Given the description of an element on the screen output the (x, y) to click on. 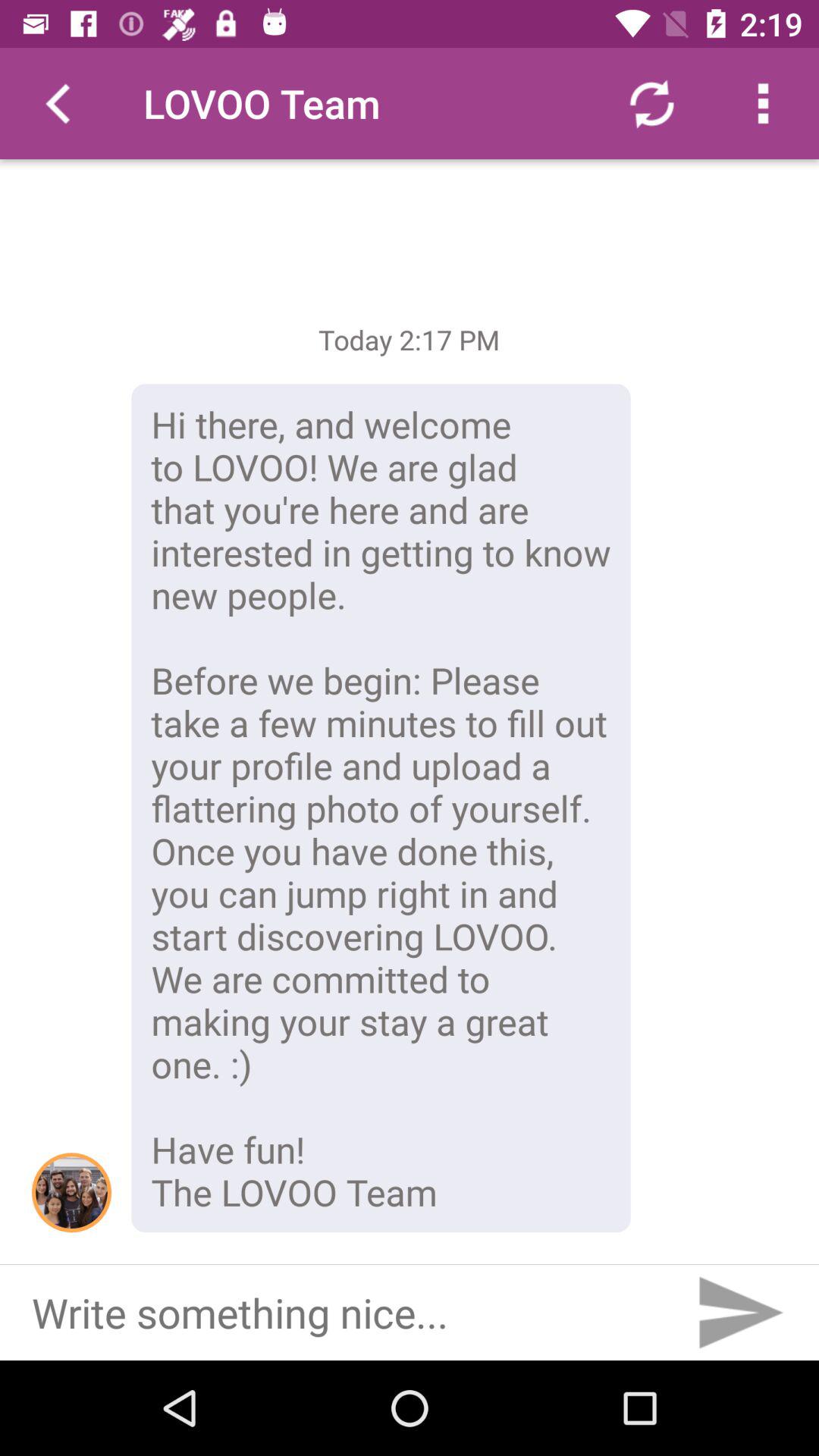
go back (55, 103)
